Given the description of an element on the screen output the (x, y) to click on. 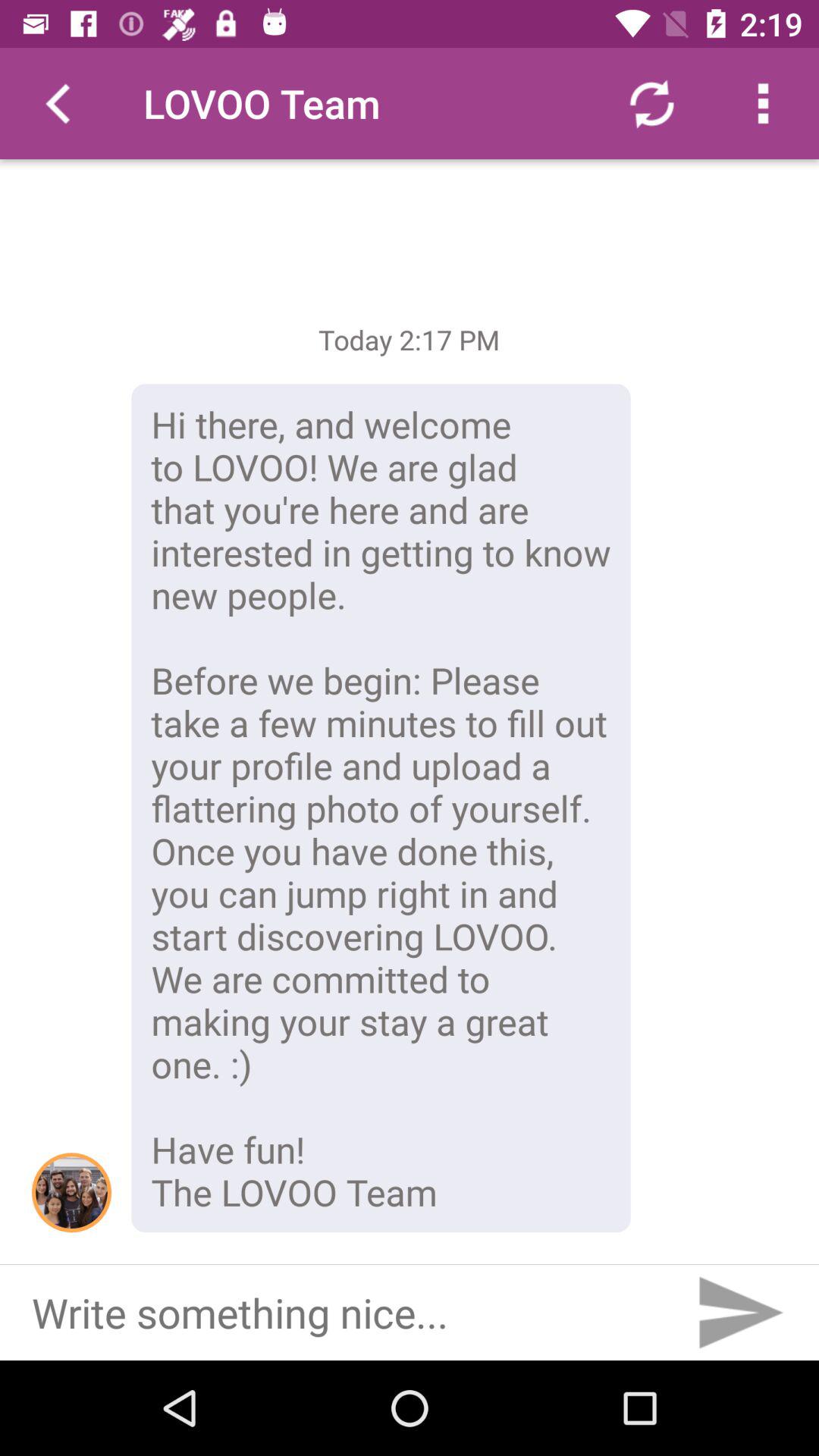
go back (55, 103)
